Given the description of an element on the screen output the (x, y) to click on. 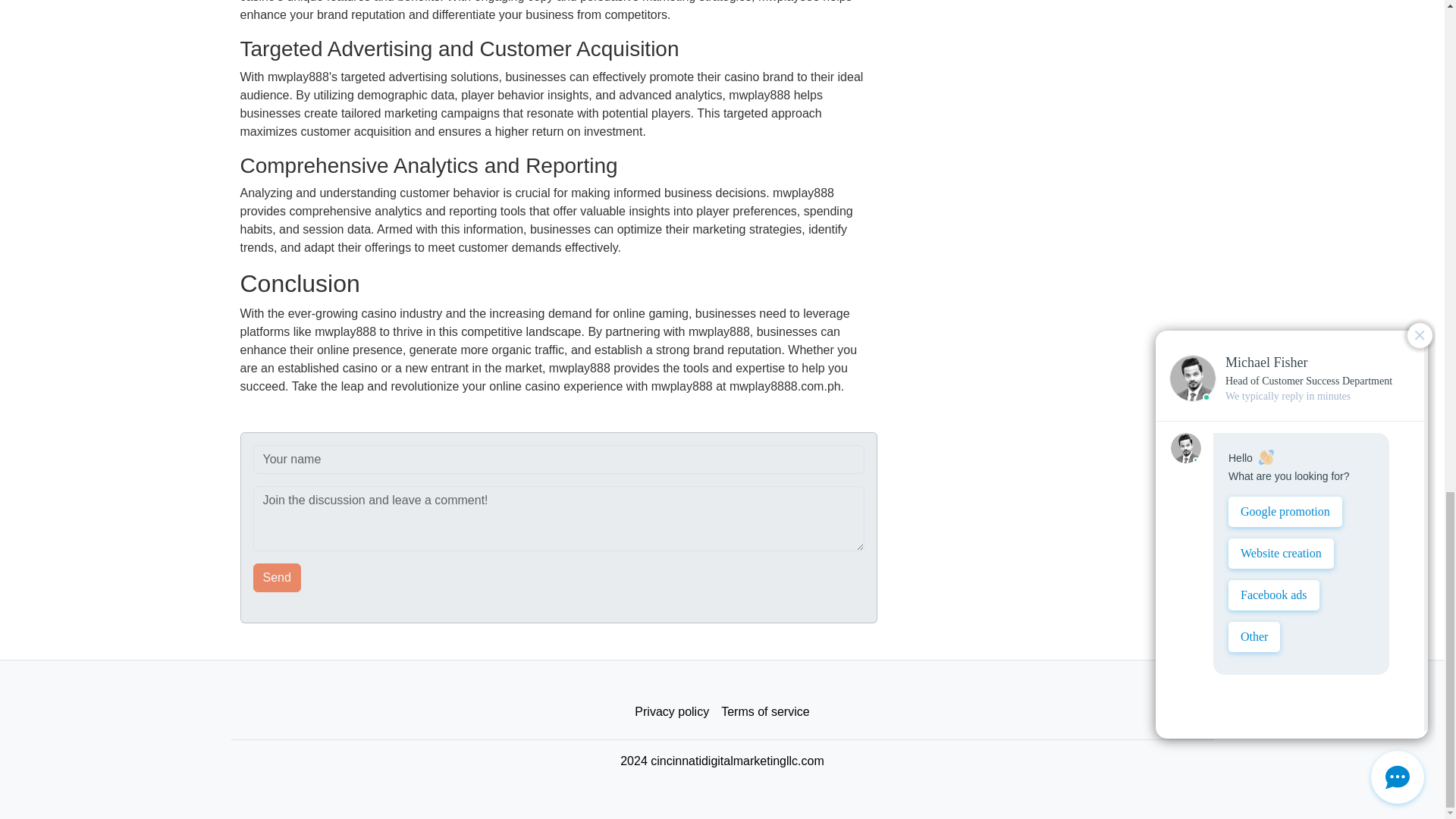
Send (277, 577)
Terms of service (764, 711)
Privacy policy (671, 711)
Send (277, 577)
